Given the description of an element on the screen output the (x, y) to click on. 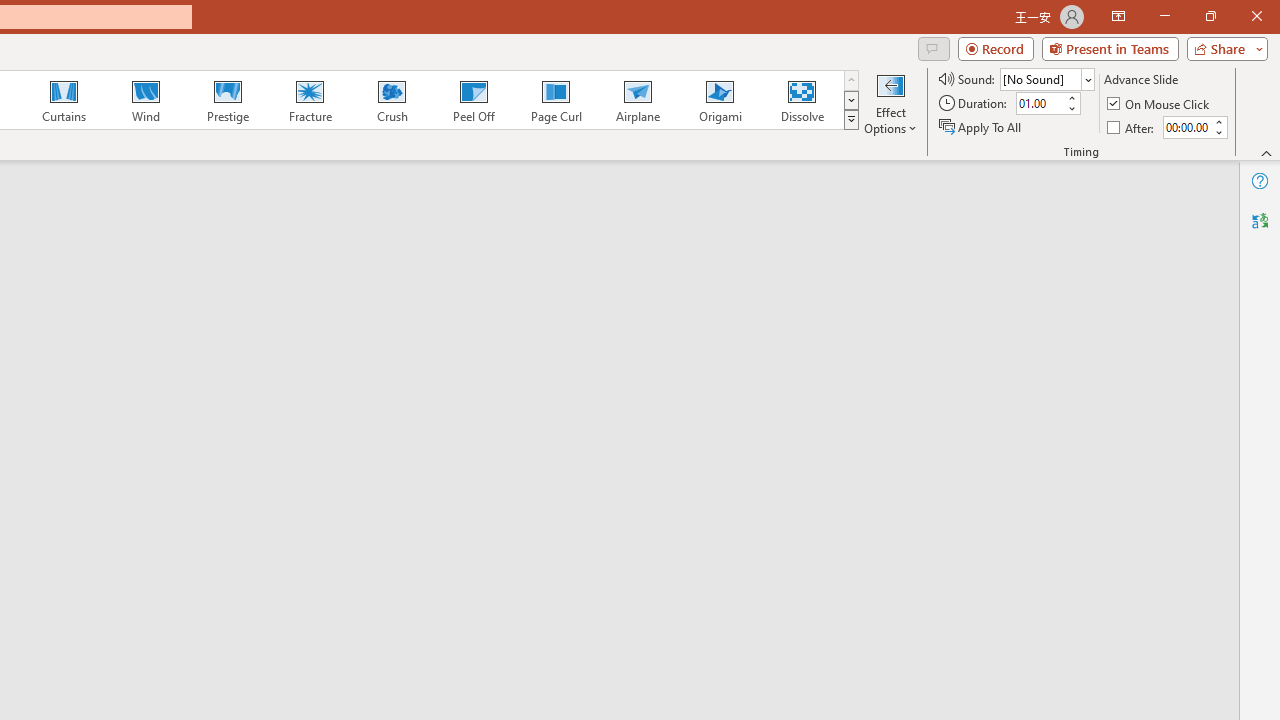
Airplane (637, 100)
Translator (1260, 220)
Transition Effects (850, 120)
Dissolve (802, 100)
Fracture (309, 100)
